Given the description of an element on the screen output the (x, y) to click on. 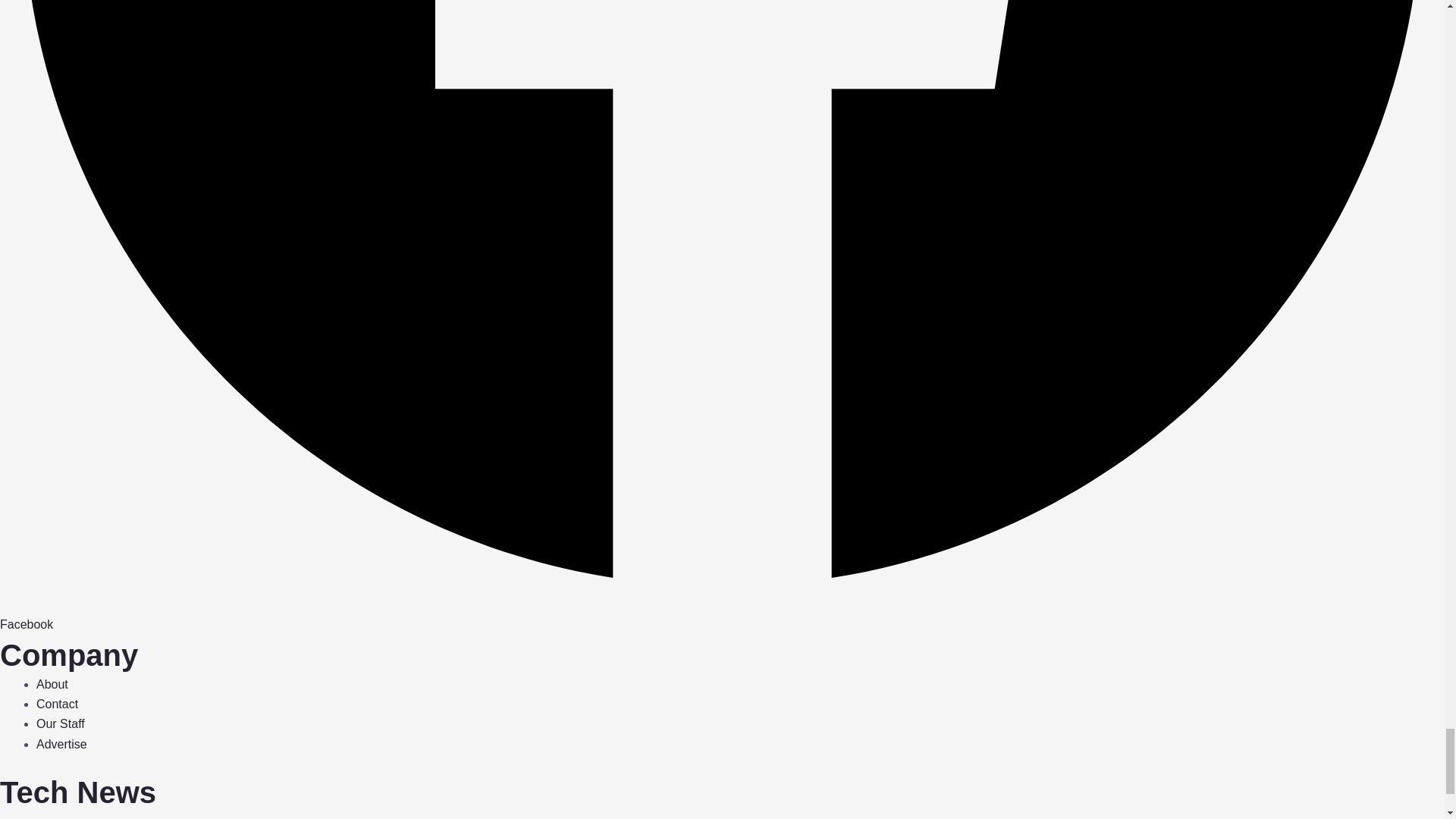
Contact (57, 703)
About (52, 684)
